Given the description of an element on the screen output the (x, y) to click on. 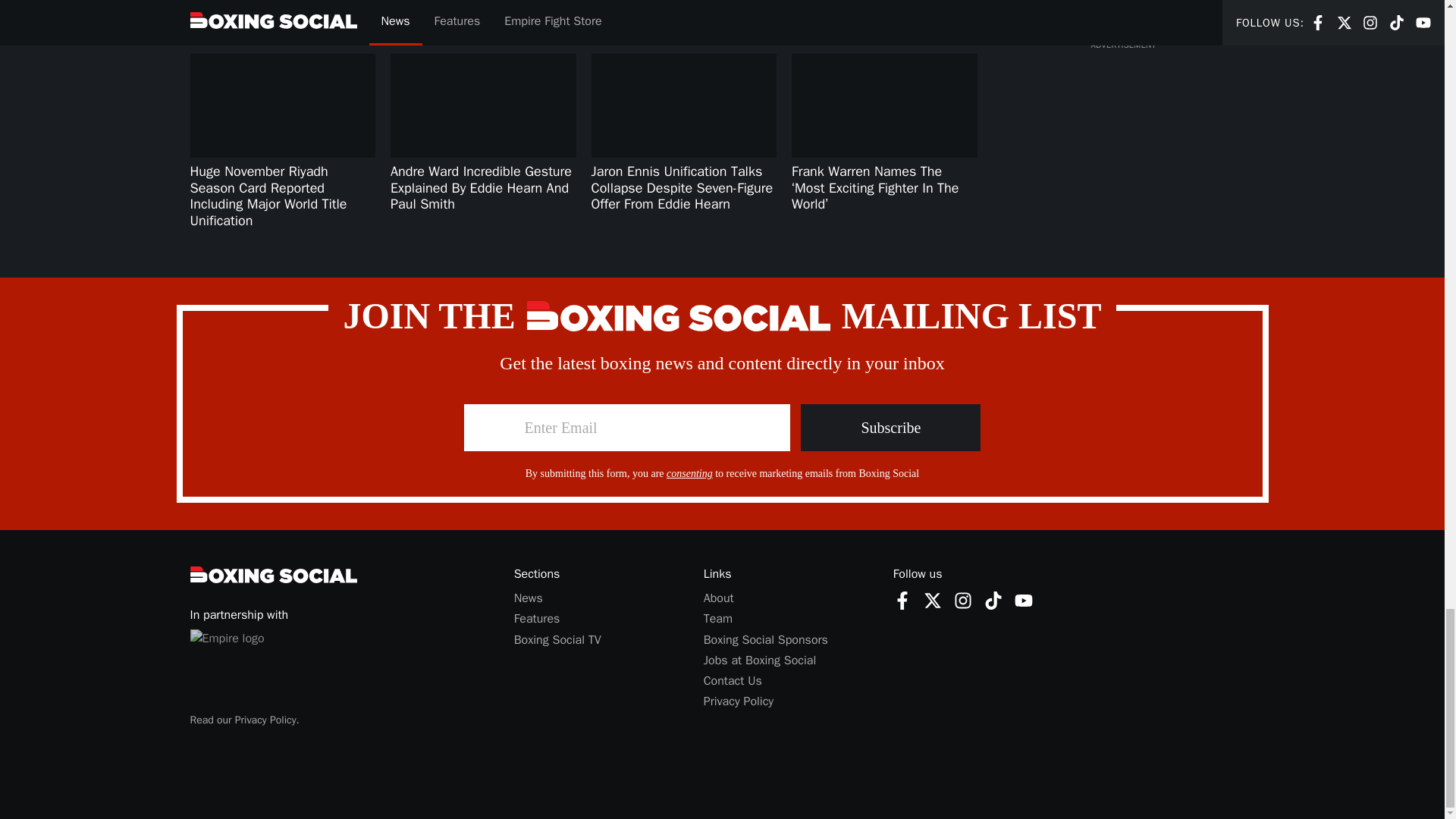
Boxing Social Sponsors (765, 639)
Boxing Social TV (557, 639)
consenting (962, 599)
About (689, 473)
News (932, 599)
Instagram (718, 598)
Features (528, 598)
Subscribe (962, 600)
